Given the description of an element on the screen output the (x, y) to click on. 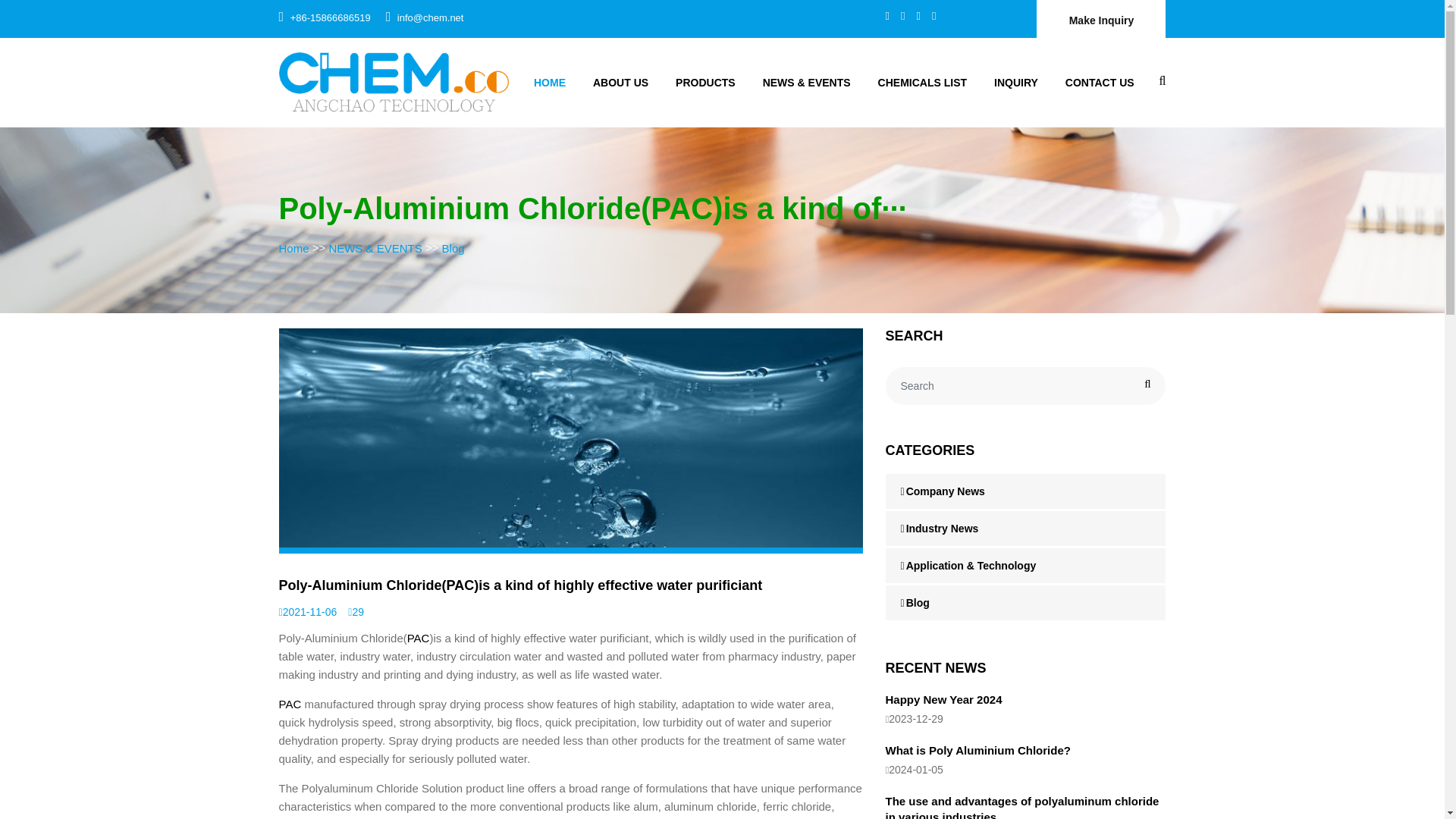
INQUIRY (1015, 82)
CHEMICALS LIST (921, 82)
Chemicals List (921, 82)
PAC (418, 637)
Make Inquiry (1101, 18)
Products (705, 82)
PAC (290, 703)
HOME (549, 82)
Make Inquiry (1101, 18)
Home (549, 82)
Home (293, 247)
CONTACT US (1099, 82)
Blog (453, 247)
About Us (620, 82)
